Given the description of an element on the screen output the (x, y) to click on. 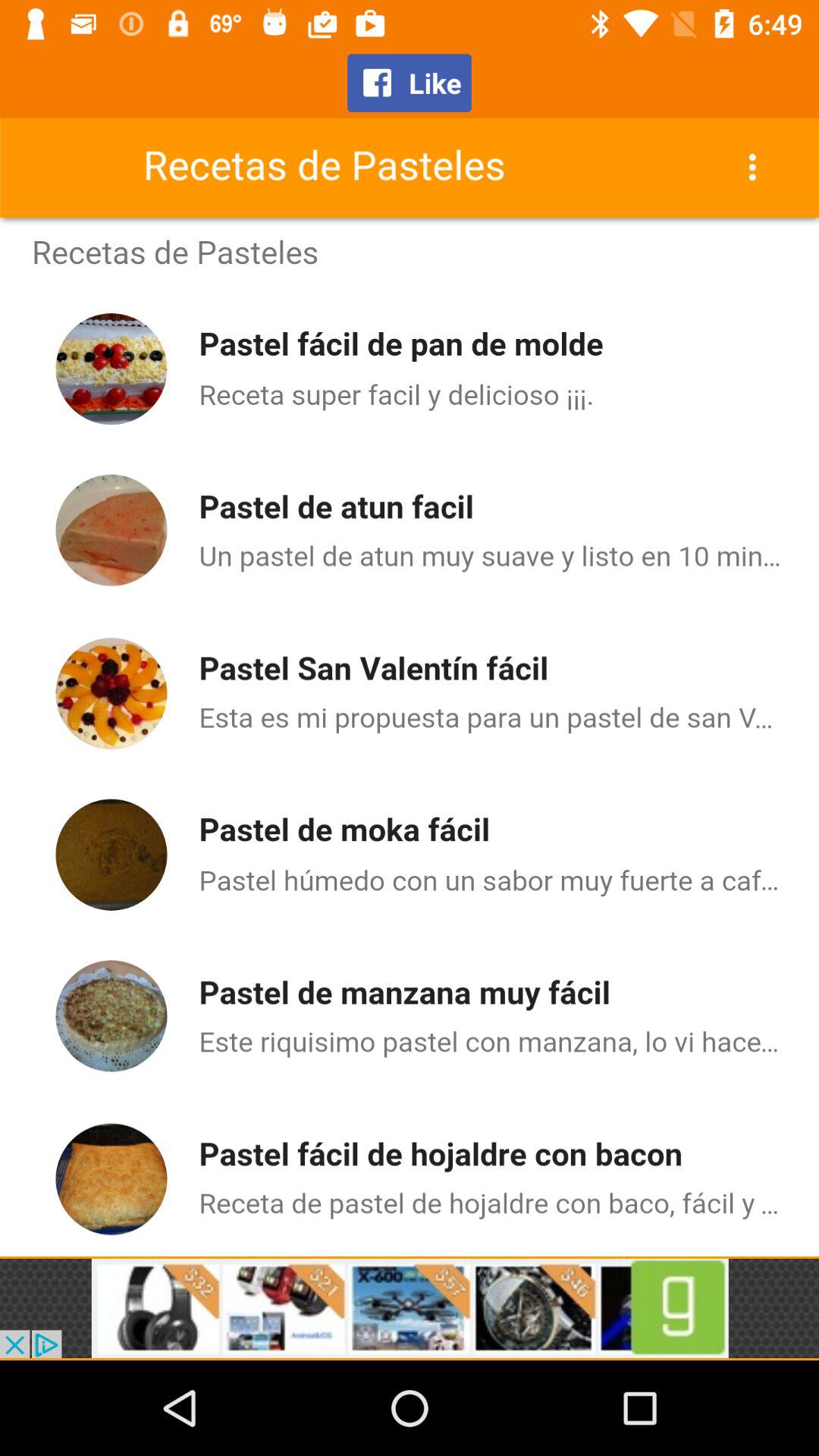
click advert (409, 1308)
